Given the description of an element on the screen output the (x, y) to click on. 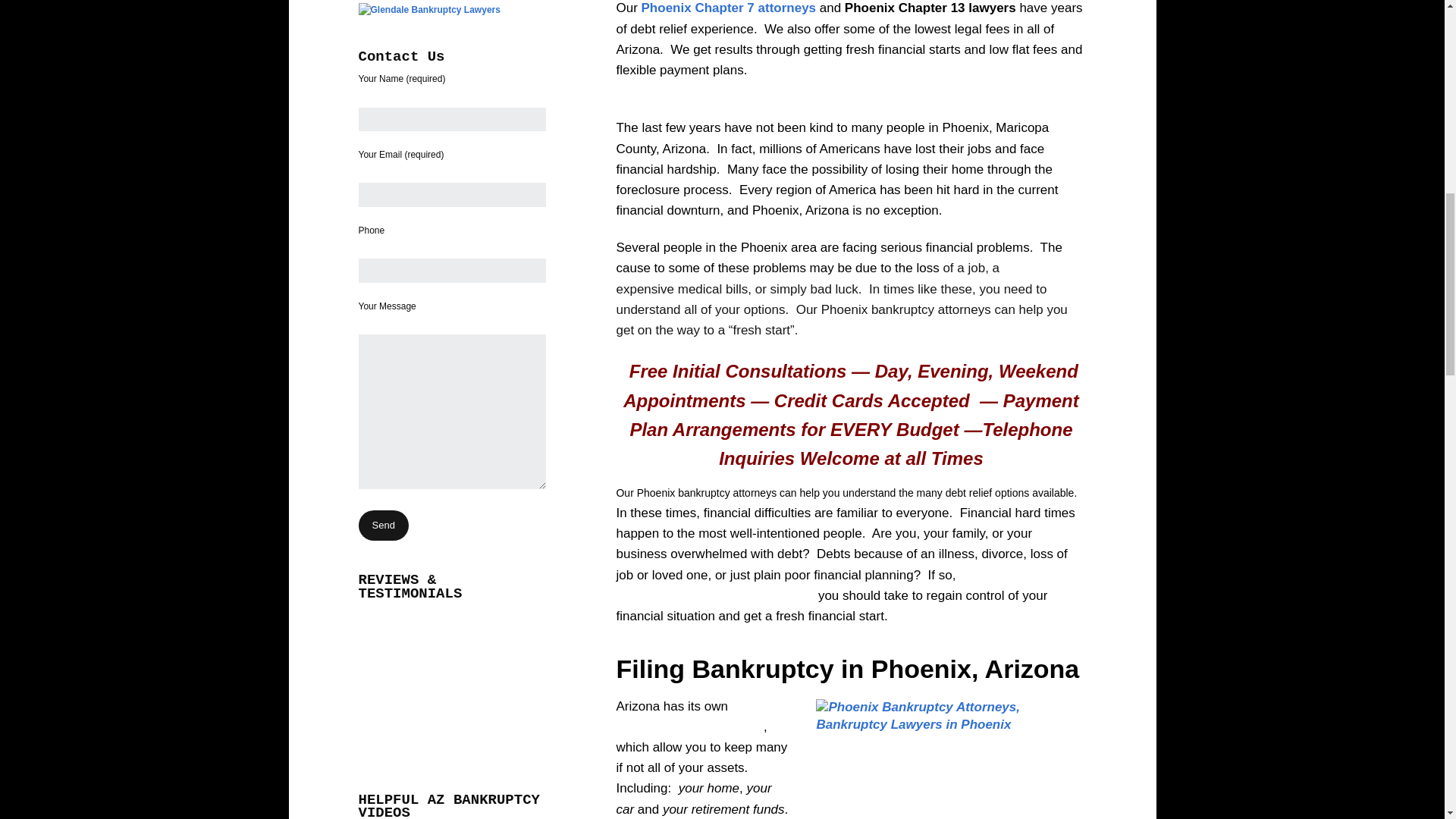
Send (382, 525)
